Given the description of an element on the screen output the (x, y) to click on. 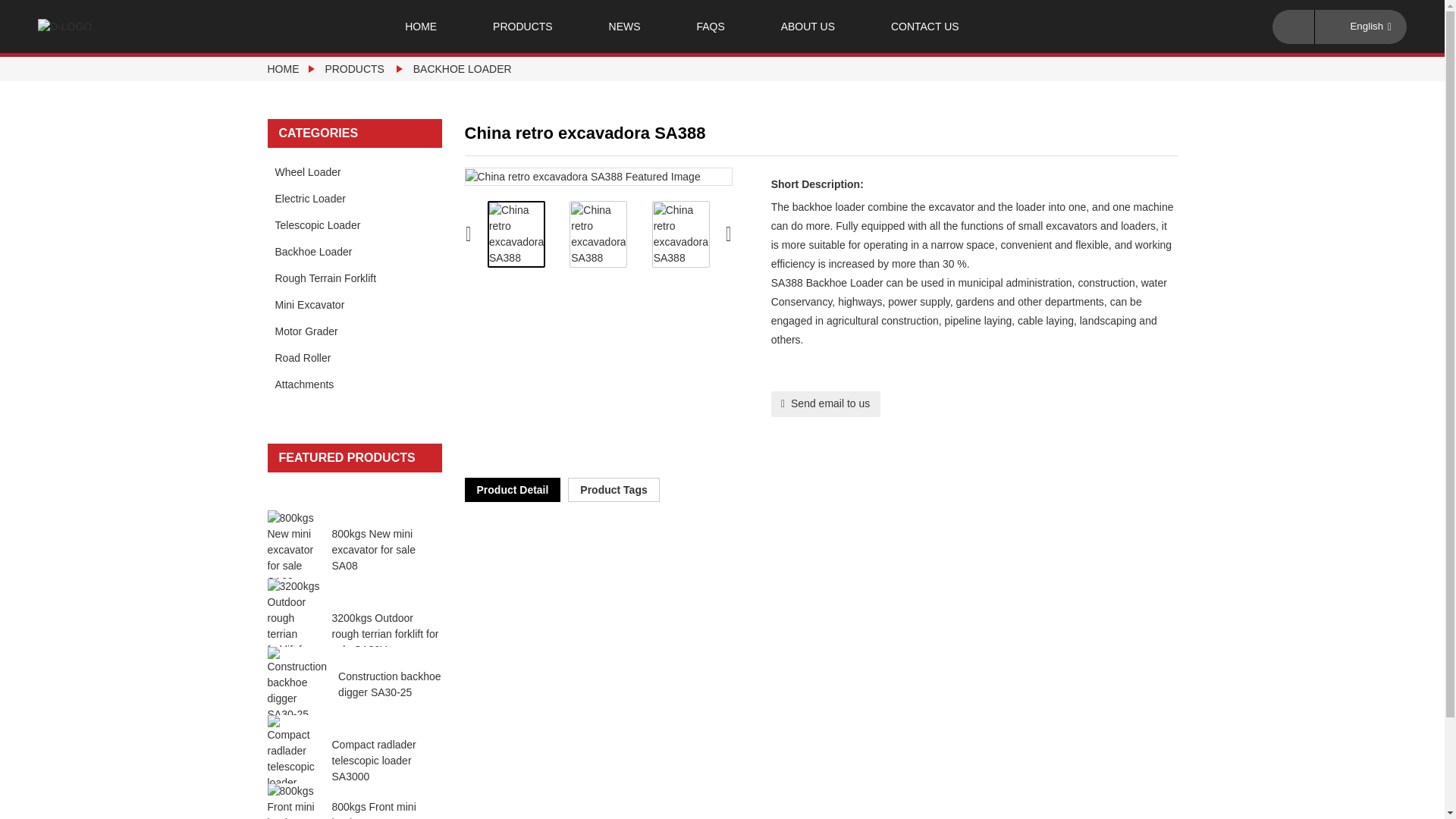
PRODUCTS (522, 26)
HOME (420, 26)
Products (354, 69)
Backhoe Loader (462, 69)
